Given the description of an element on the screen output the (x, y) to click on. 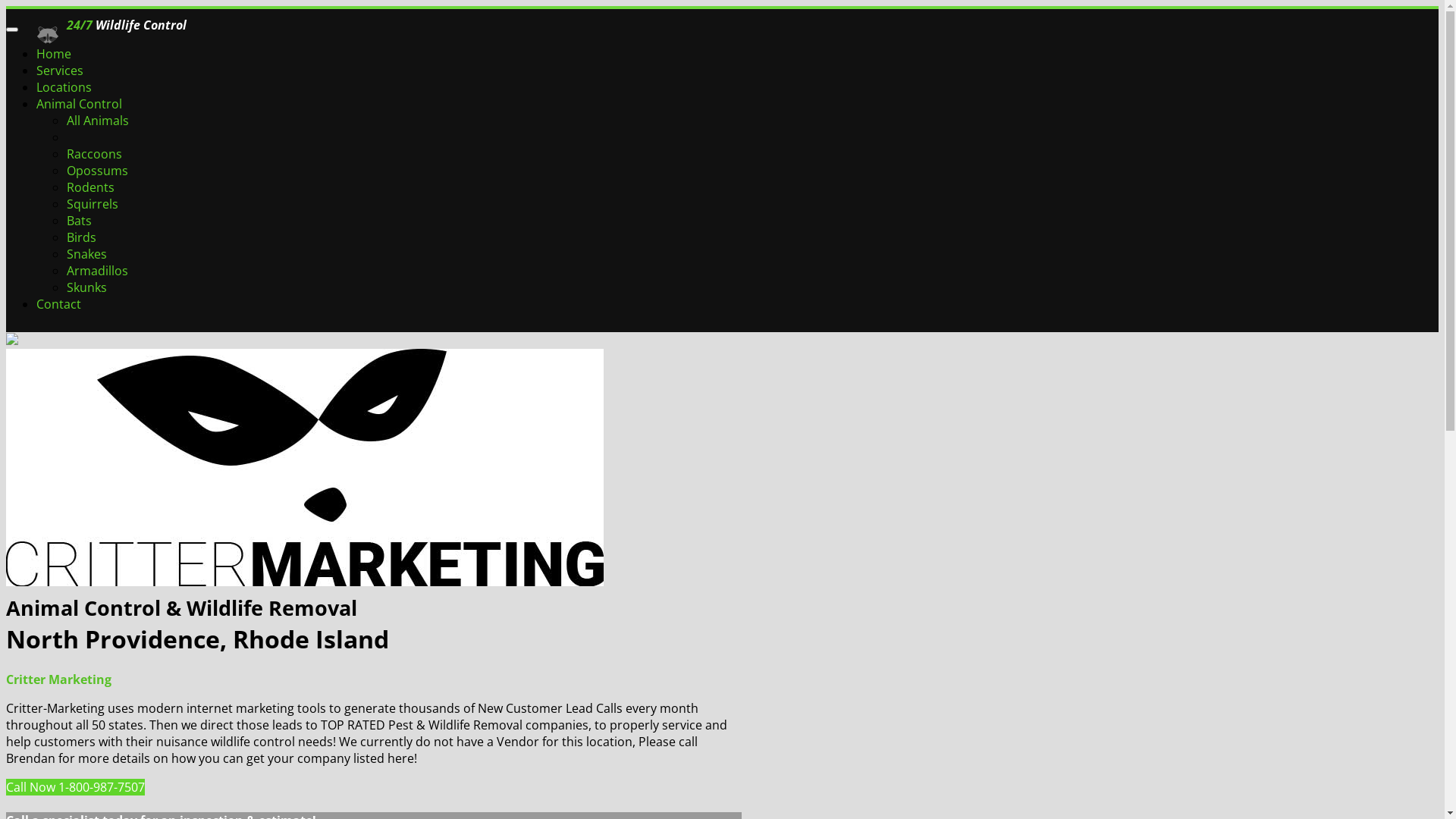
Home Element type: text (53, 53)
Animal Control Element type: text (79, 103)
Snakes Element type: text (86, 253)
Armadillos Element type: text (97, 270)
Bats Element type: text (78, 220)
Contact Element type: text (58, 303)
Raccoons Element type: text (94, 153)
Toggle navigation Element type: text (12, 29)
Rodents Element type: text (90, 186)
Squirrels Element type: text (92, 203)
All Animals Element type: text (97, 120)
Skunks Element type: text (86, 287)
Birds Element type: text (81, 237)
Services Element type: text (59, 70)
Locations Element type: text (63, 86)
Opossums Element type: text (97, 170)
24/7 Wildlife Control
24/7 Wildlife Control Element type: text (103, 24)
Call Now 1-800-987-7507 Element type: text (75, 786)
